Given the description of an element on the screen output the (x, y) to click on. 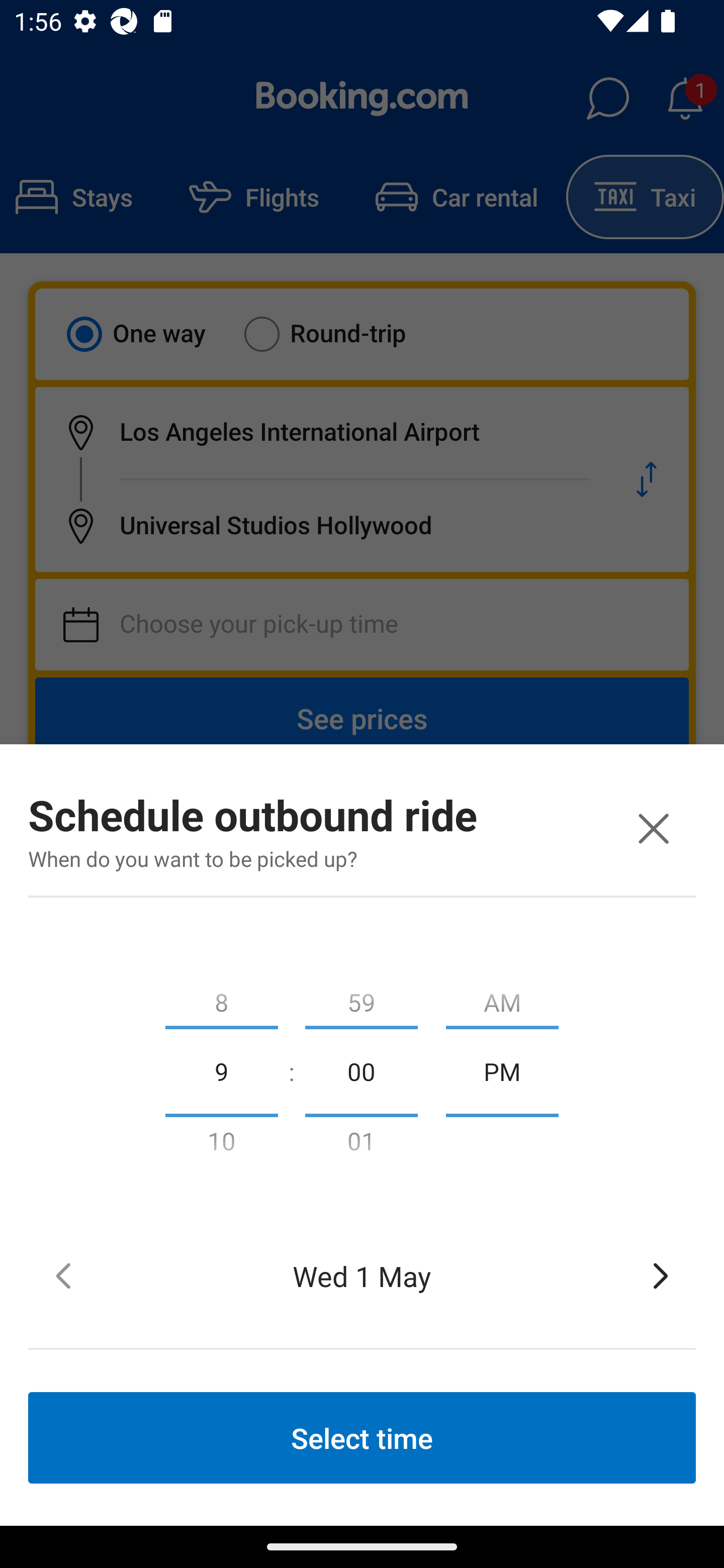
Close window (653, 828)
8 (221, 997)
59 (361, 997)
AM (501, 997)
9 (221, 1070)
00 (361, 1070)
PM (501, 1070)
10 (221, 1144)
01 (361, 1144)
Tap to move back to the previous date (63, 1275)
Tap to move forward to the next date (660, 1275)
Wed 1 May Selected date, Wednesday, 1 May (361, 1275)
Select time (361, 1437)
